Given the description of an element on the screen output the (x, y) to click on. 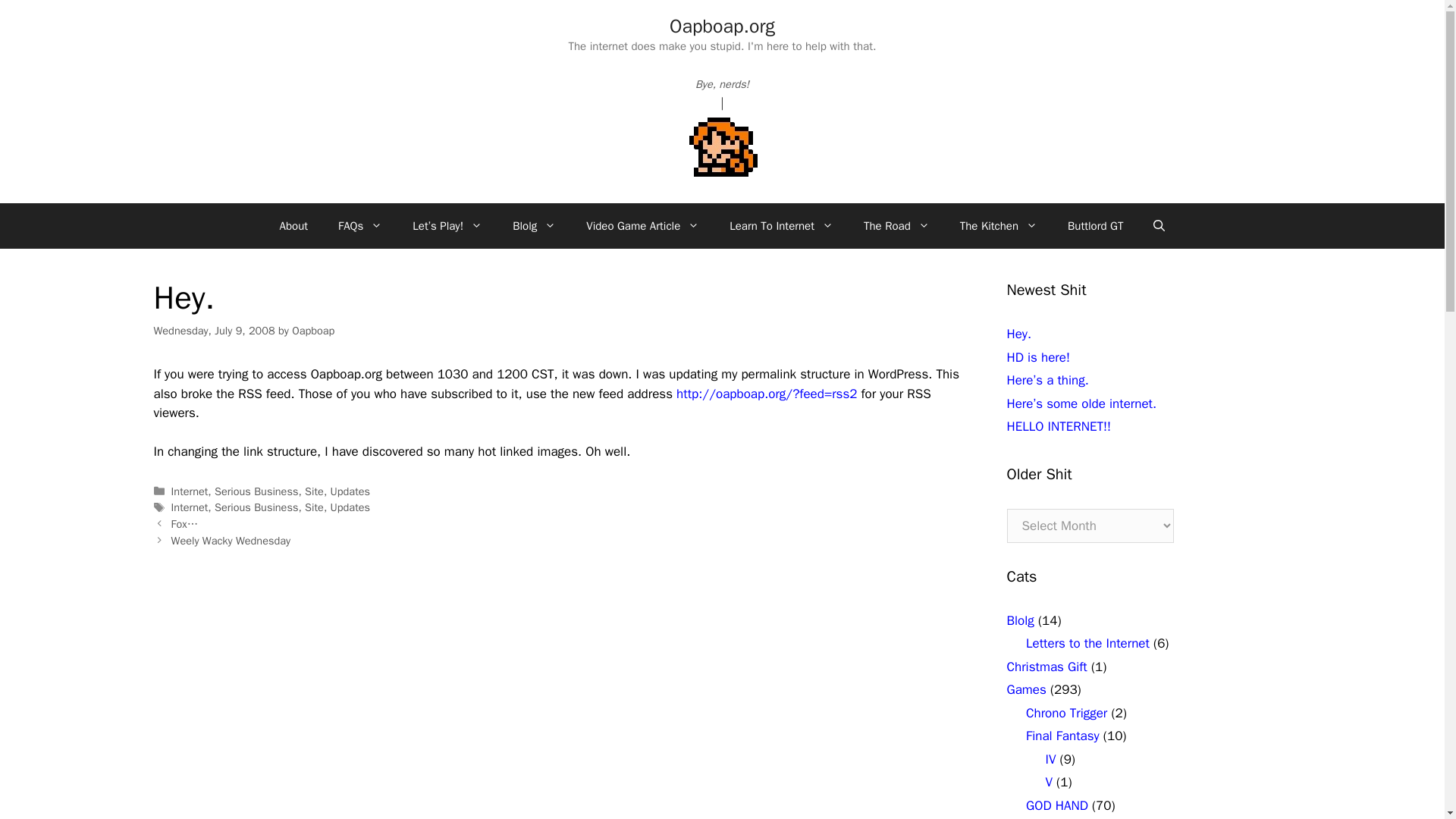
Oapboap.org (721, 25)
Oapboap.org (721, 25)
View all posts by Oapboap (313, 330)
FAQs (360, 225)
About (293, 225)
